Given the description of an element on the screen output the (x, y) to click on. 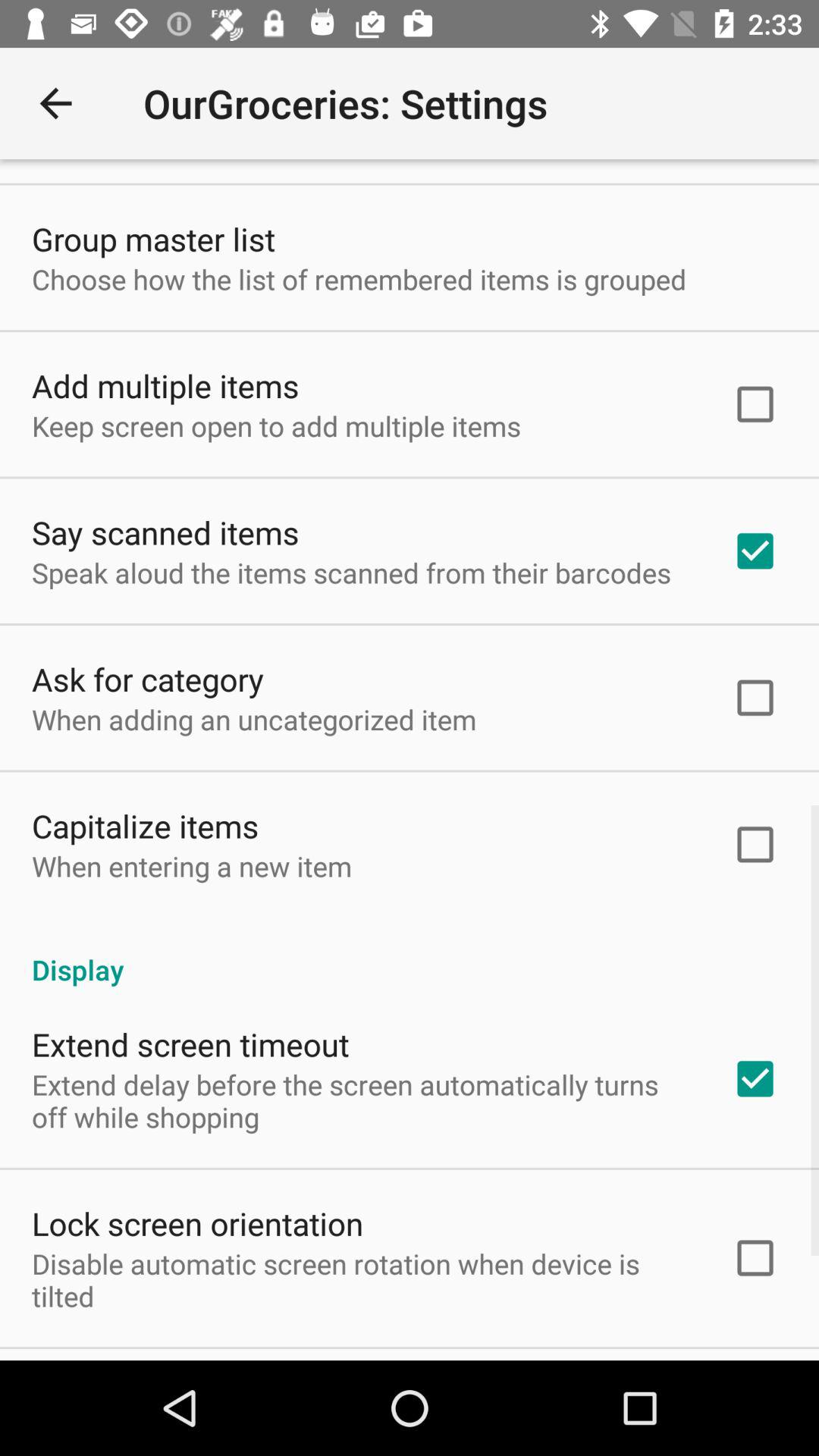
turn on item above the display item (191, 865)
